Given the description of an element on the screen output the (x, y) to click on. 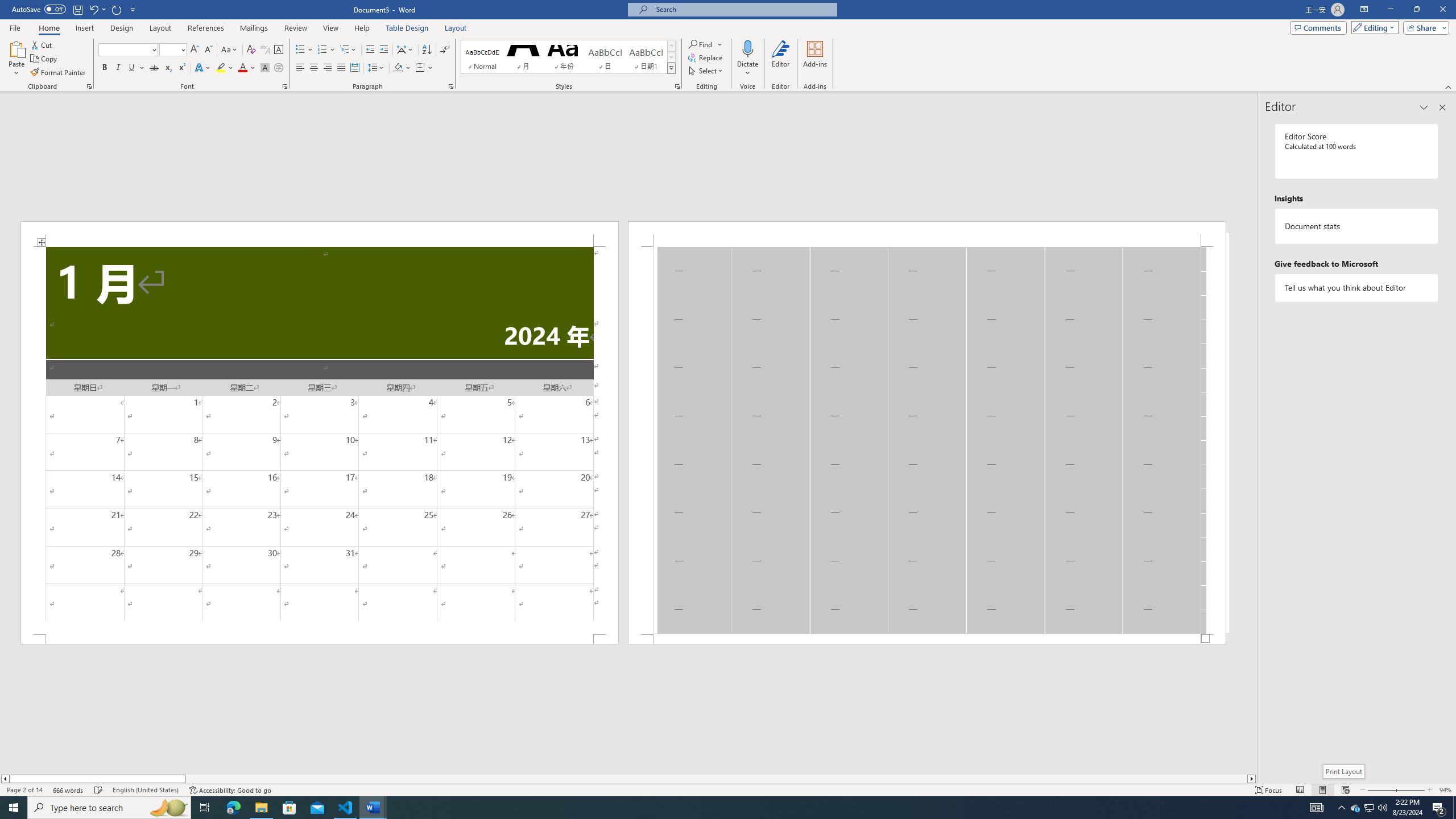
AutomationID: QuickStylesGallery (568, 56)
Text Effects and Typography (202, 67)
Asian Layout (405, 49)
Repeat Doc Close (117, 9)
